Given the description of an element on the screen output the (x, y) to click on. 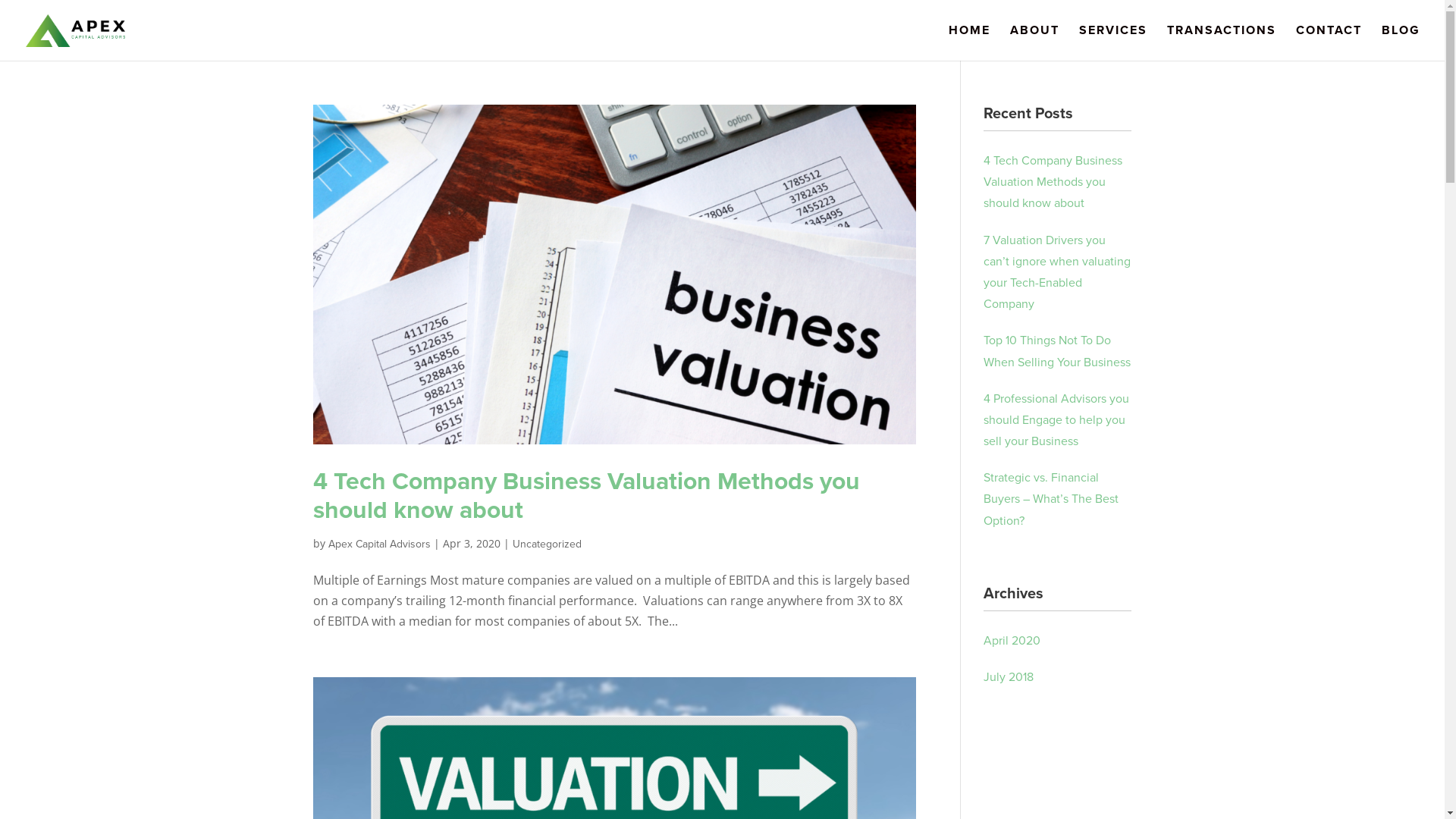
Top 10 Things Not To Do When Selling Your Business Element type: text (1056, 350)
BLOG Element type: text (1400, 42)
Apex Capital Advisors Element type: text (378, 543)
TRANSACTIONS Element type: text (1221, 42)
CONTACT Element type: text (1328, 42)
July 2018 Element type: text (1008, 676)
ABOUT Element type: text (1034, 42)
April 2020 Element type: text (1011, 640)
HOME Element type: text (969, 42)
Uncategorized Element type: text (546, 543)
SERVICES Element type: text (1113, 42)
